Given the description of an element on the screen output the (x, y) to click on. 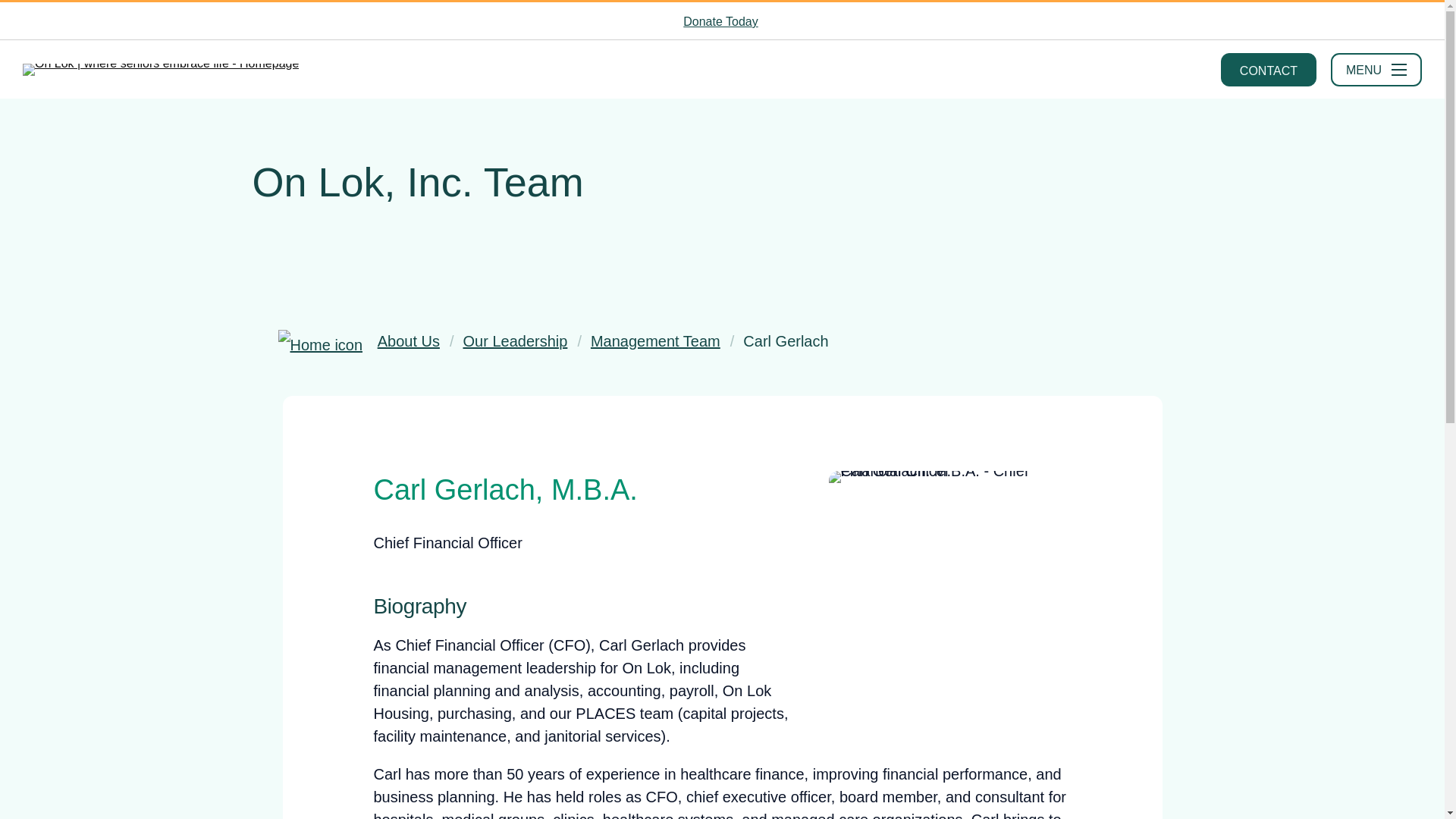
MENU (1376, 69)
About Us (408, 340)
Donate Today (721, 21)
Management Team (655, 340)
CONTACT (1268, 69)
Our Leadership (515, 340)
